Given the description of an element on the screen output the (x, y) to click on. 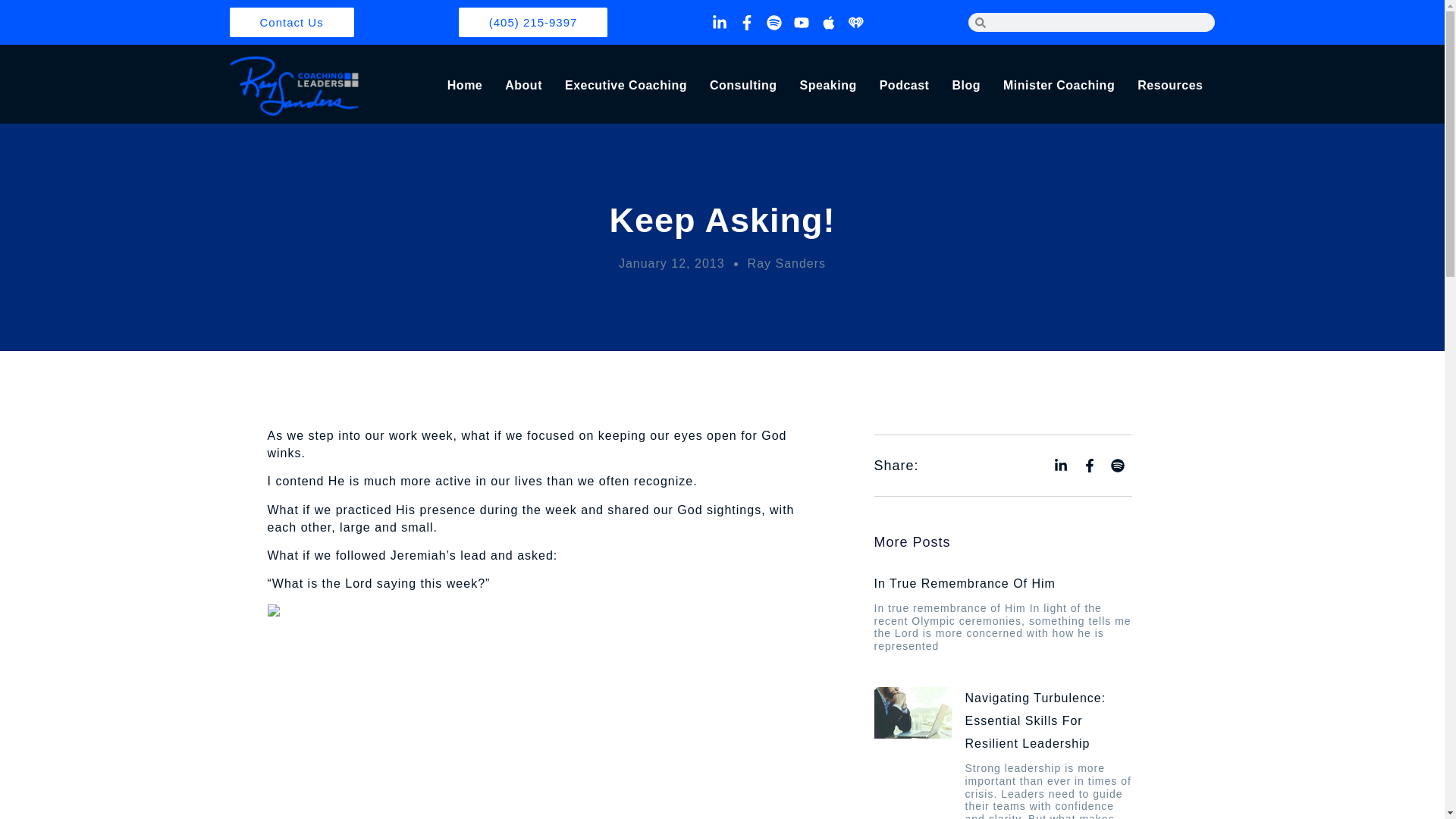
Home (464, 85)
Speaking (828, 85)
Podcast (903, 85)
Contact Us (290, 21)
About (523, 85)
January 12, 2013 (671, 262)
Ray Sanders (787, 262)
Minister Coaching (1058, 85)
Resources (1169, 85)
Consulting (743, 85)
Executive Coaching (625, 85)
In True Remembrance Of Him (963, 583)
Blog (965, 85)
